Given the description of an element on the screen output the (x, y) to click on. 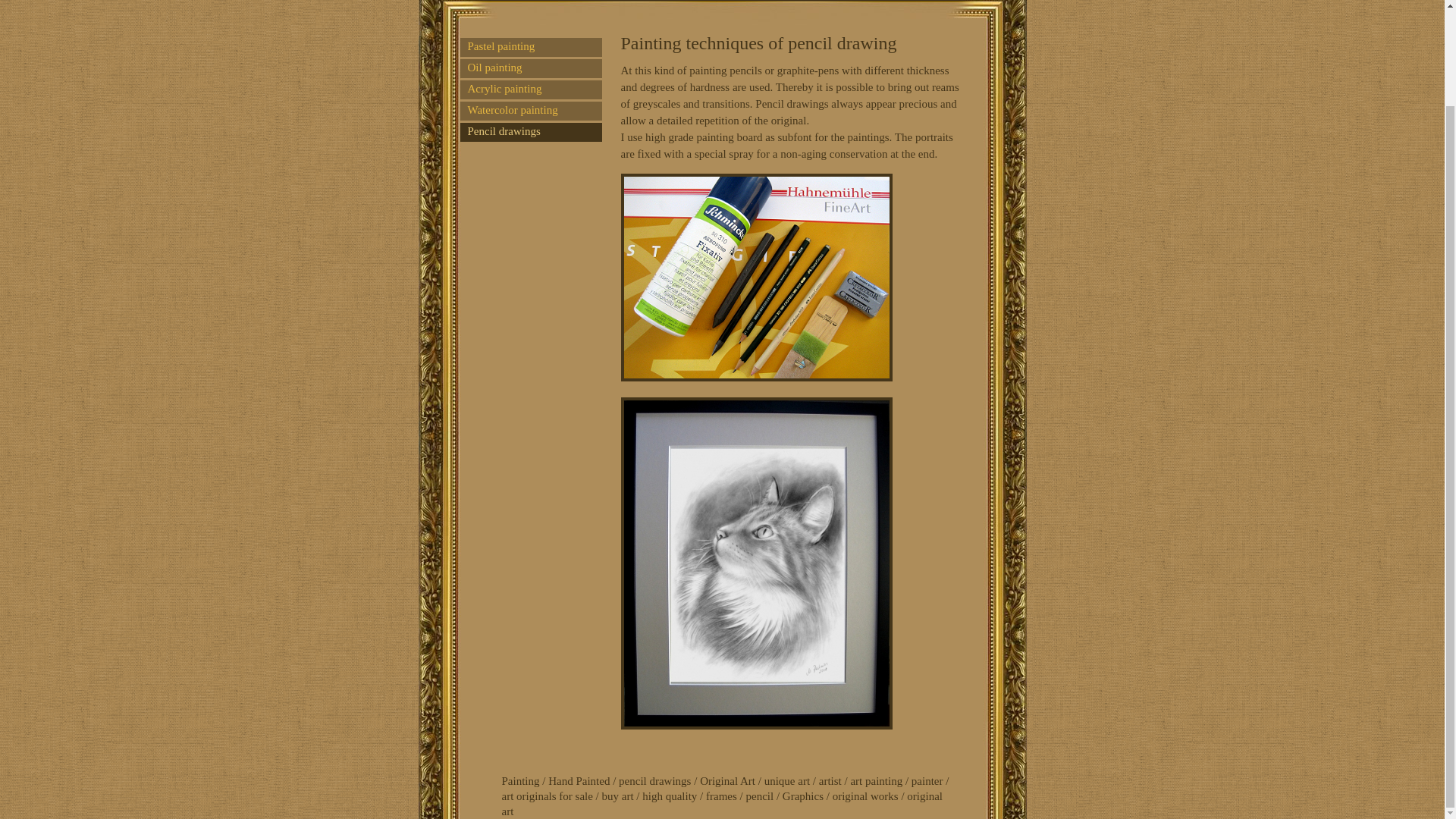
Pencil drawings (530, 131)
Watercolor painting (530, 110)
Acrylic painting (530, 89)
Pastel painting (530, 46)
Oil painting (530, 67)
